Given the description of an element on the screen output the (x, y) to click on. 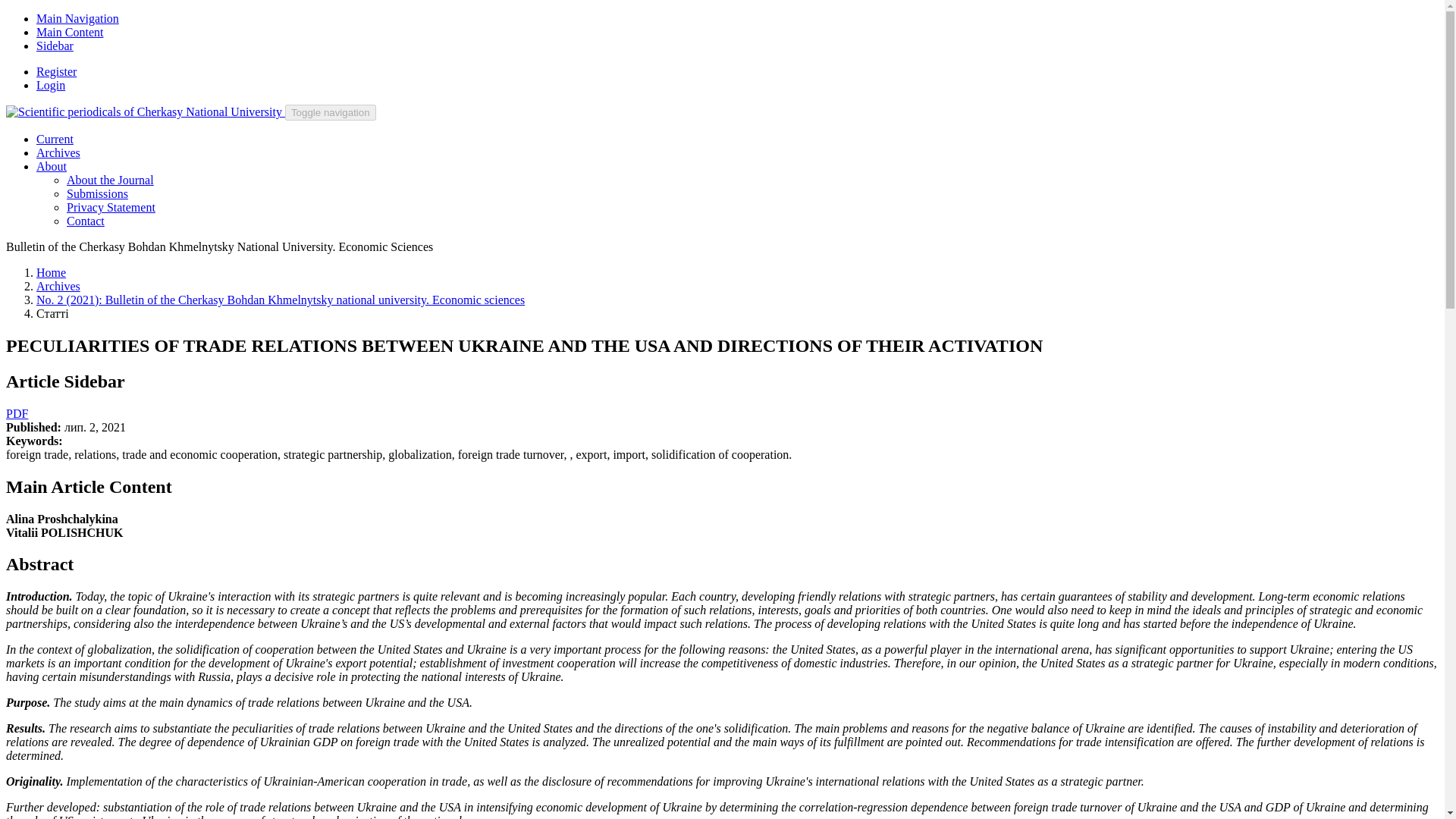
Register (56, 71)
Contact (85, 220)
Home (50, 272)
Current (55, 138)
Submissions (97, 193)
Archives (58, 152)
Main Content (69, 31)
Main Navigation (77, 18)
About the Journal (110, 179)
About (51, 165)
